Given the description of an element on the screen output the (x, y) to click on. 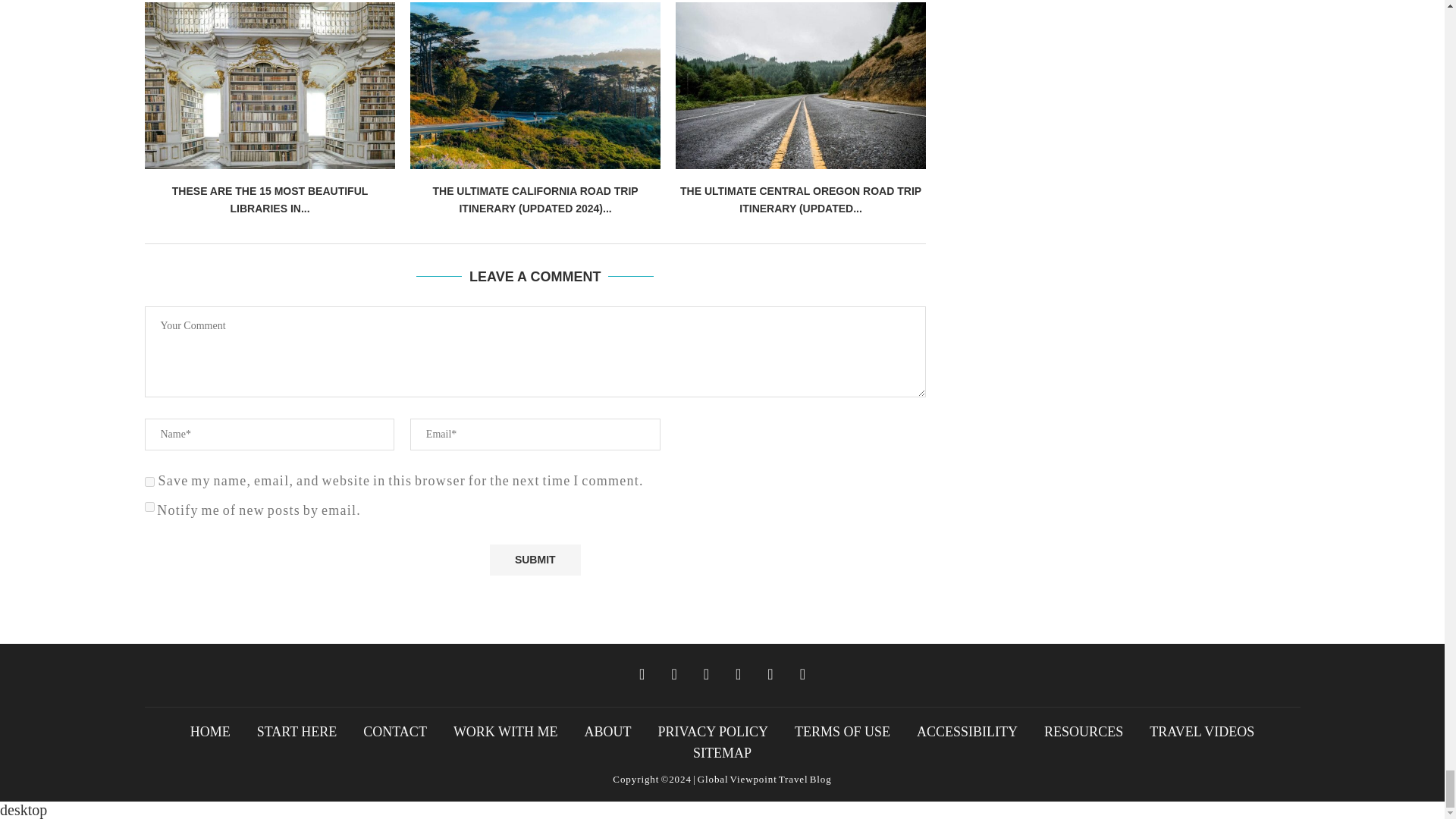
Submit (534, 559)
yes (149, 481)
subscribe (149, 506)
